Given the description of an element on the screen output the (x, y) to click on. 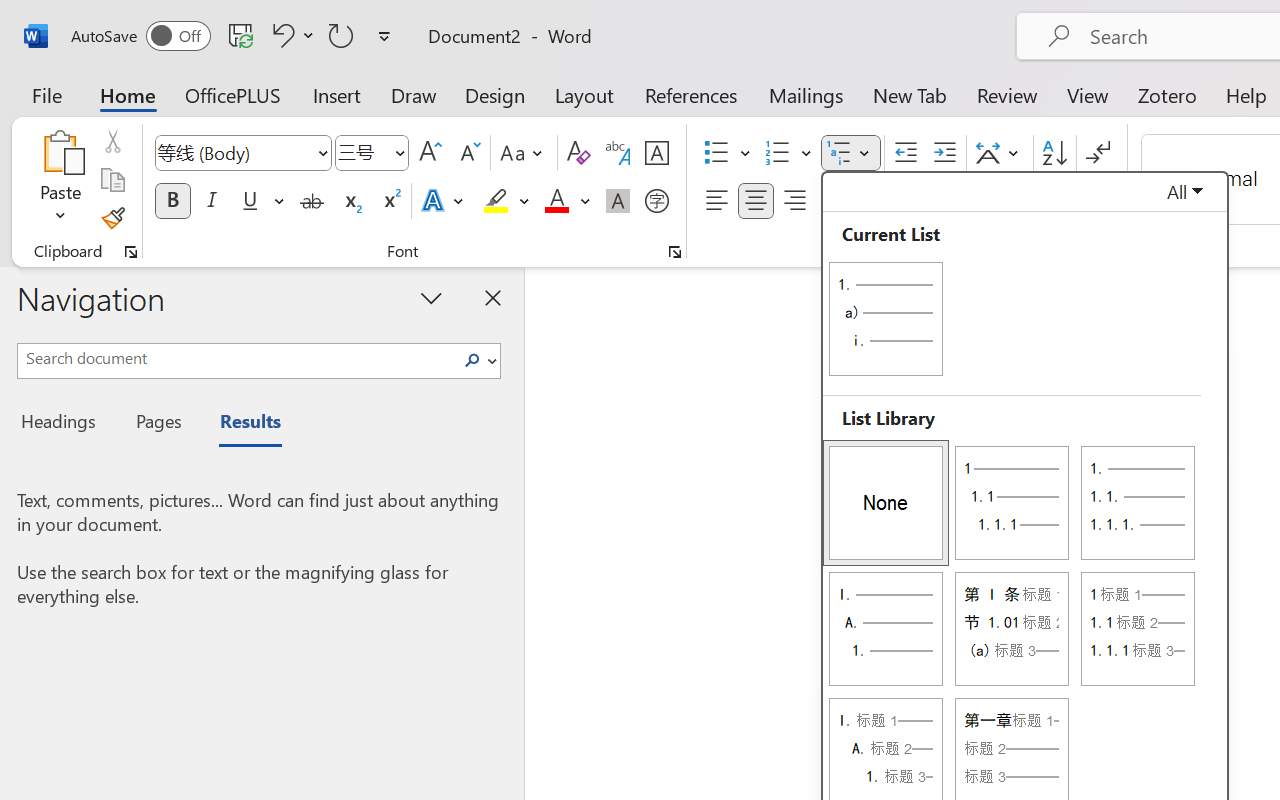
Class: NetUIImage (471, 360)
Format Painter (112, 218)
Copy (112, 179)
Font... (675, 252)
Text Highlight Color Yellow (495, 201)
Enclose Characters... (656, 201)
Undo Style (280, 35)
Search document (236, 358)
Font Color (567, 201)
References (690, 94)
Pages (156, 424)
Task Pane Options (431, 297)
Mailings (806, 94)
Bullets (716, 153)
